Given the description of an element on the screen output the (x, y) to click on. 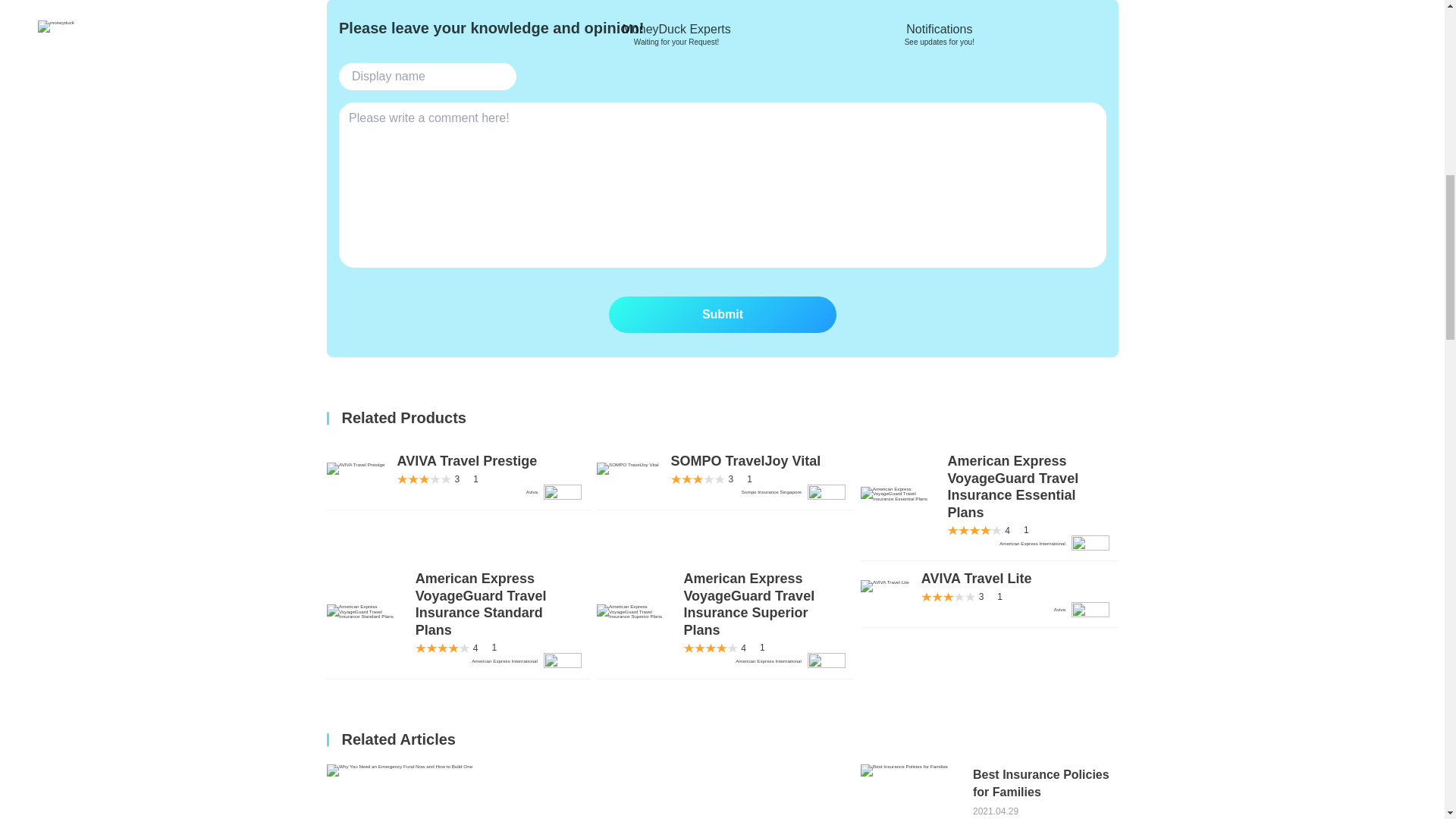
Submit (989, 791)
